Given the description of an element on the screen output the (x, y) to click on. 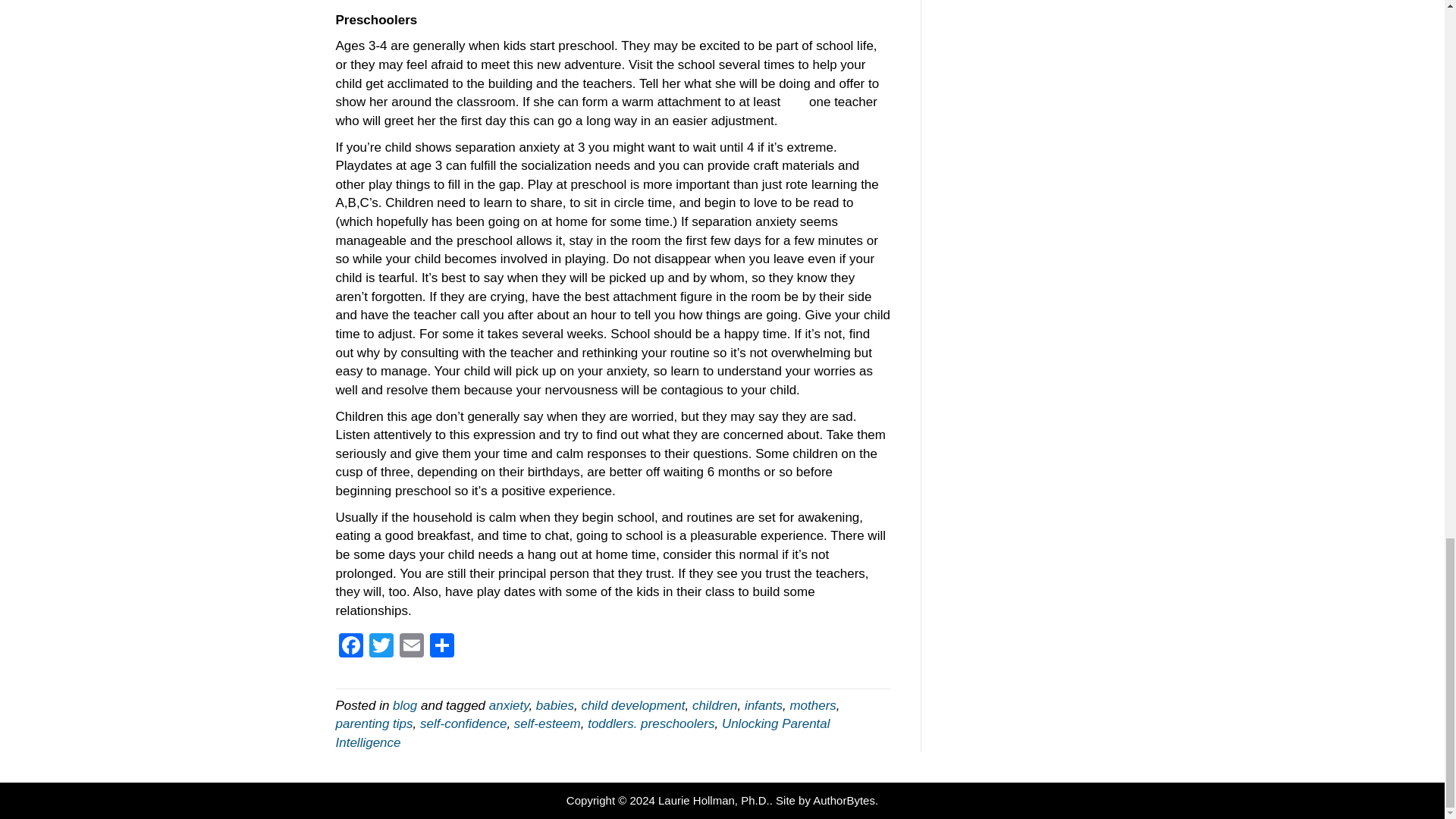
anxiety (509, 705)
Facebook (349, 646)
self-esteem (546, 723)
babies (554, 705)
parenting tips (373, 723)
blog (404, 705)
Email (411, 646)
Facebook (349, 646)
children (715, 705)
toddlers. preschoolers (651, 723)
mothers (812, 705)
Twitter (380, 646)
Email (411, 646)
child development (632, 705)
infants (763, 705)
